Given the description of an element on the screen output the (x, y) to click on. 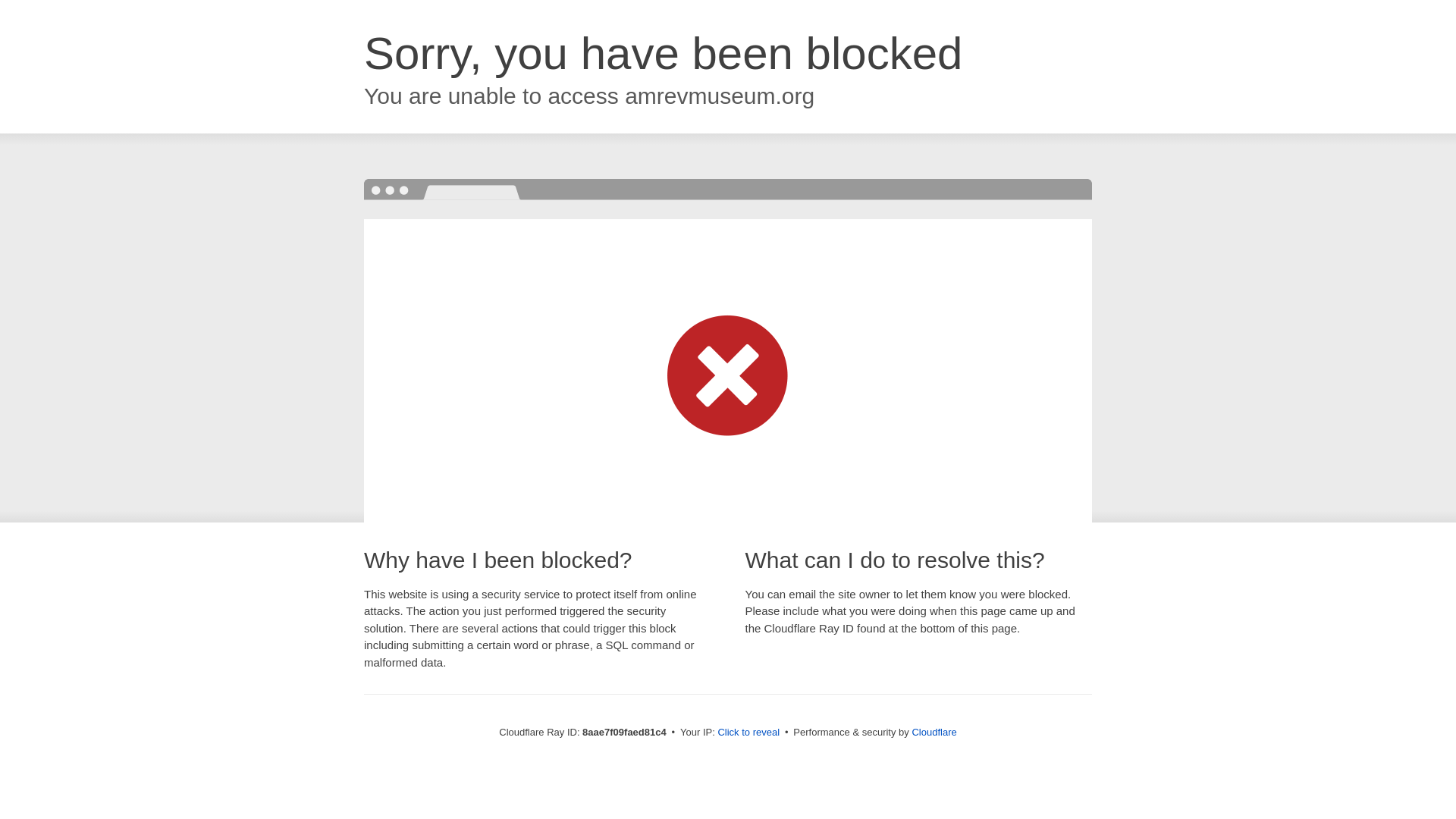
Click to reveal (747, 732)
Cloudflare (933, 731)
